Given the description of an element on the screen output the (x, y) to click on. 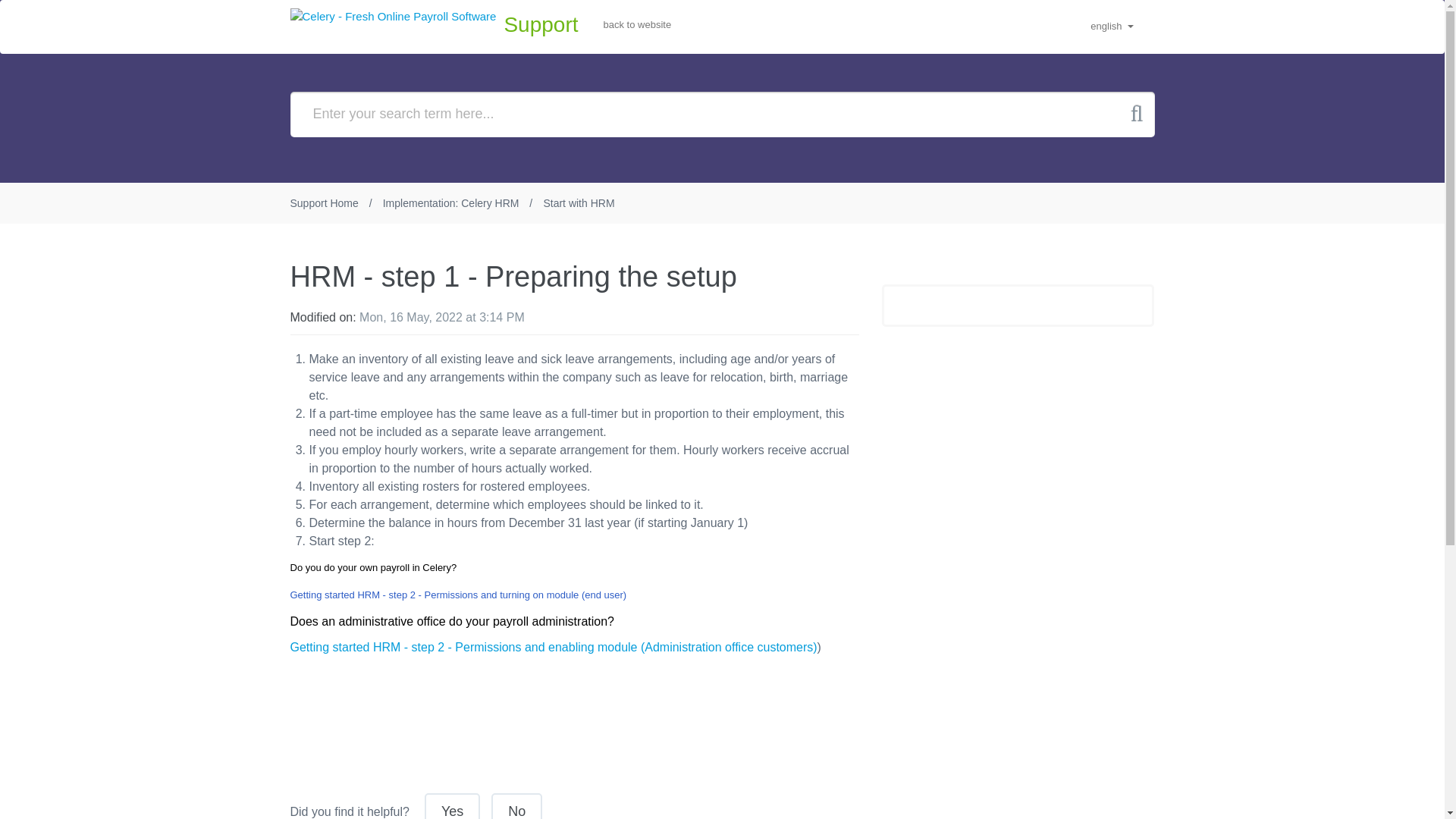
Support Home (323, 203)
Implementation: Celery HRM (450, 203)
Start with HRM (578, 203)
Do you do your own payroll in Celery?   (375, 567)
back to website (637, 24)
